Given the description of an element on the screen output the (x, y) to click on. 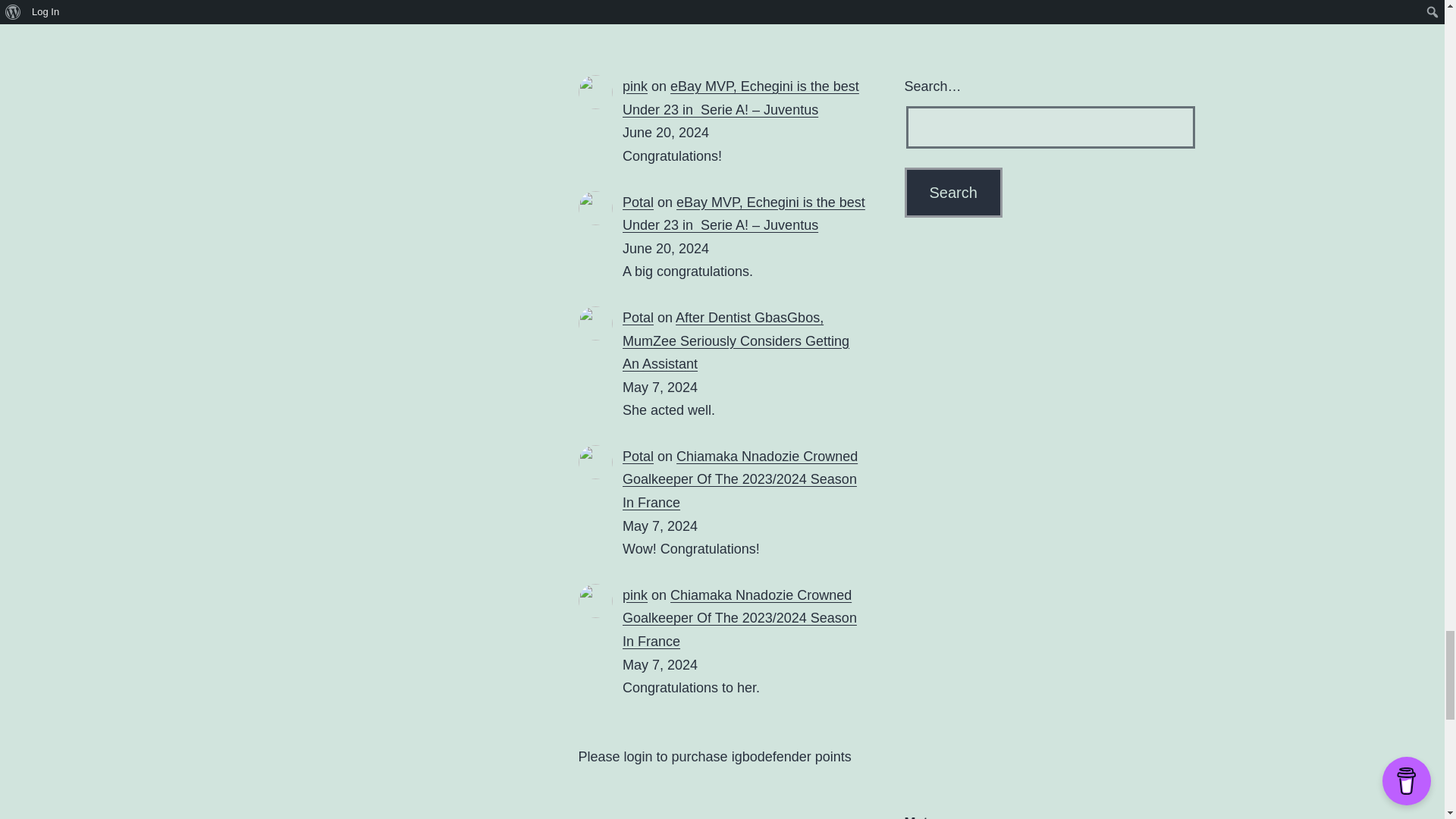
Search (952, 192)
Search (952, 192)
